Given the description of an element on the screen output the (x, y) to click on. 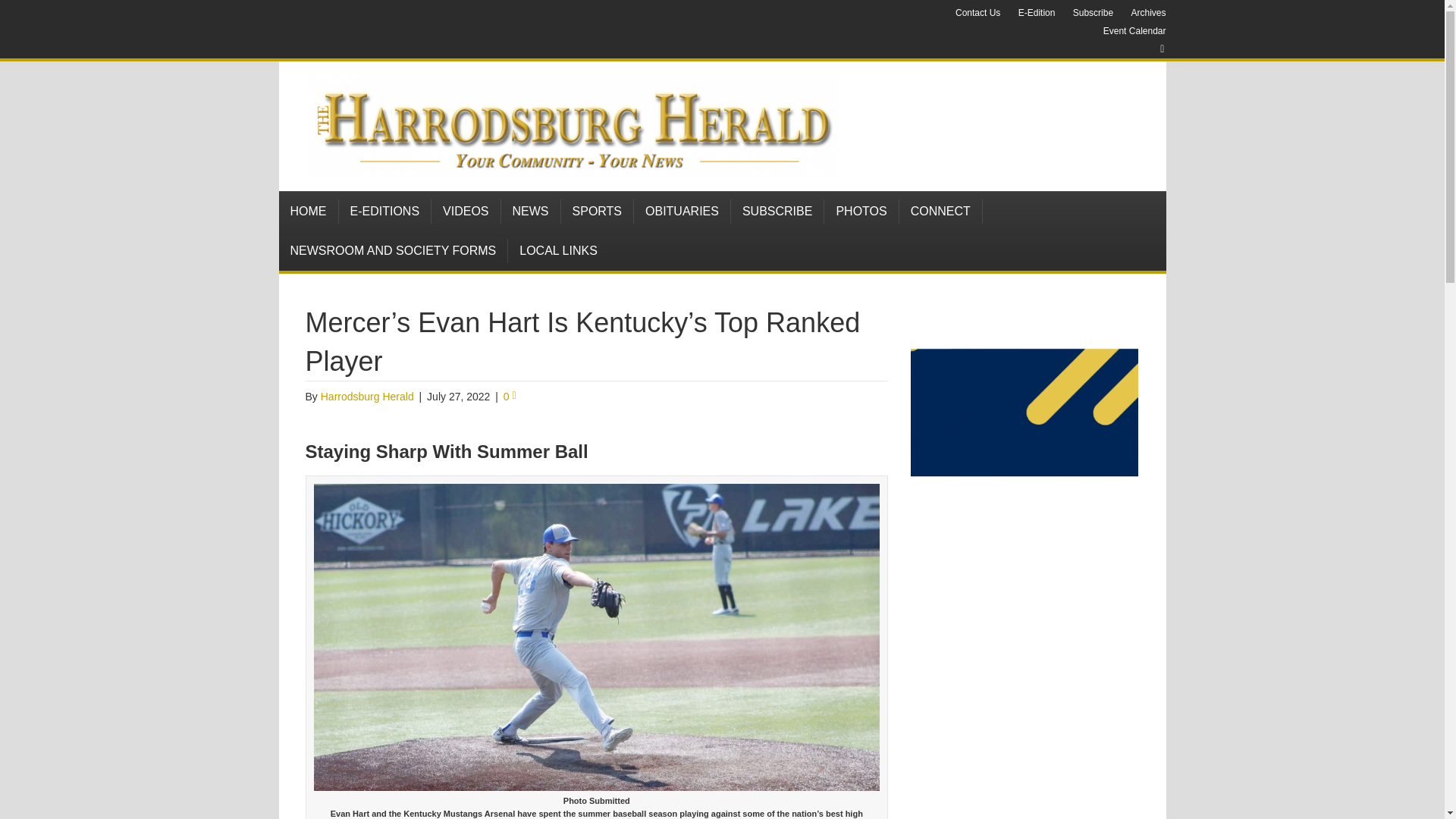
SPORTS (597, 211)
Email (1154, 48)
HOME (309, 211)
E-EDITIONS (383, 211)
Subscribe (1093, 13)
NEWS (530, 211)
CONNECT (940, 211)
E-Edition (1036, 13)
SUBSCRIBE (777, 211)
Event Calendar (1134, 31)
